Given the description of an element on the screen output the (x, y) to click on. 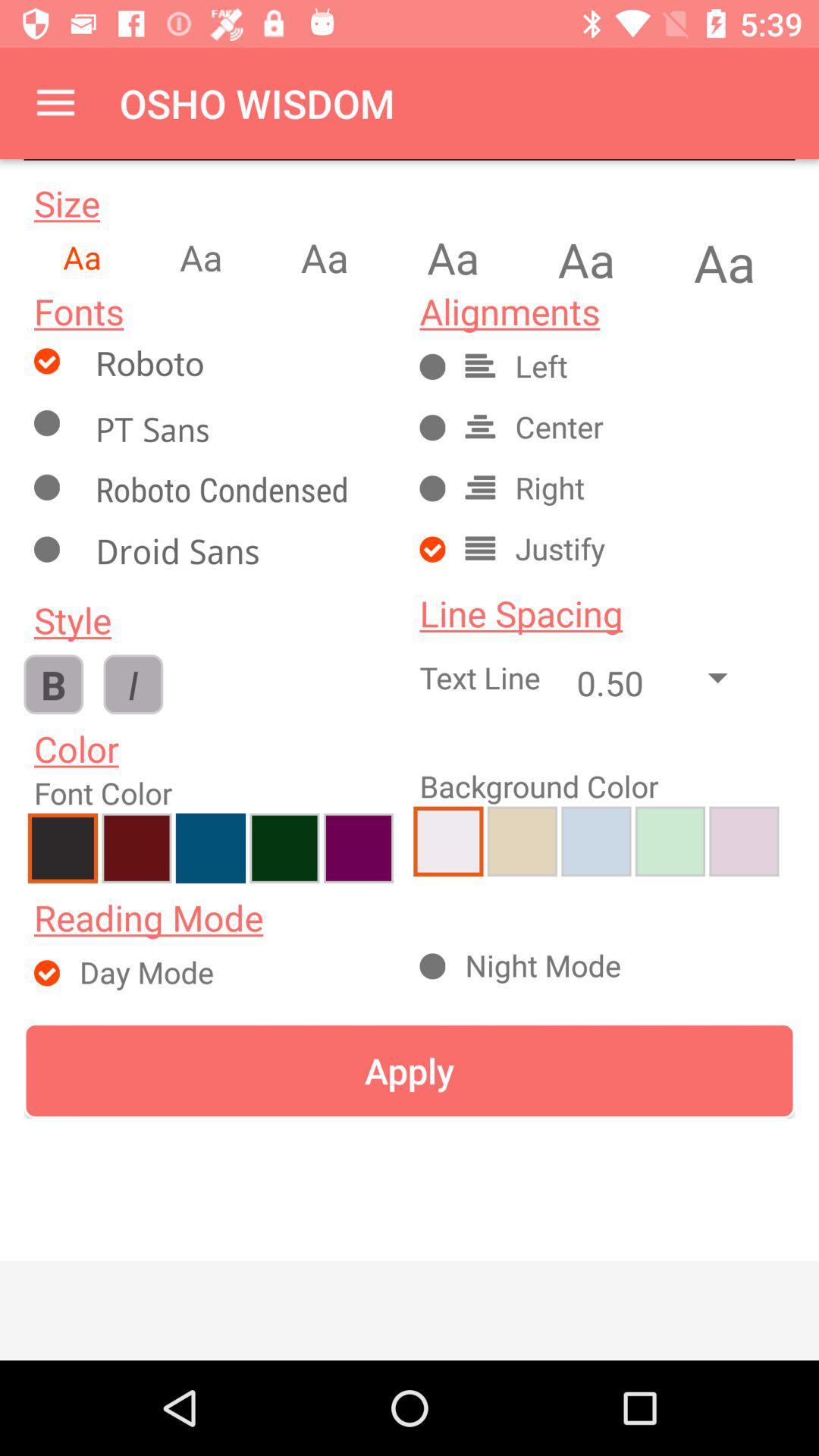
white background color (448, 841)
